Given the description of an element on the screen output the (x, y) to click on. 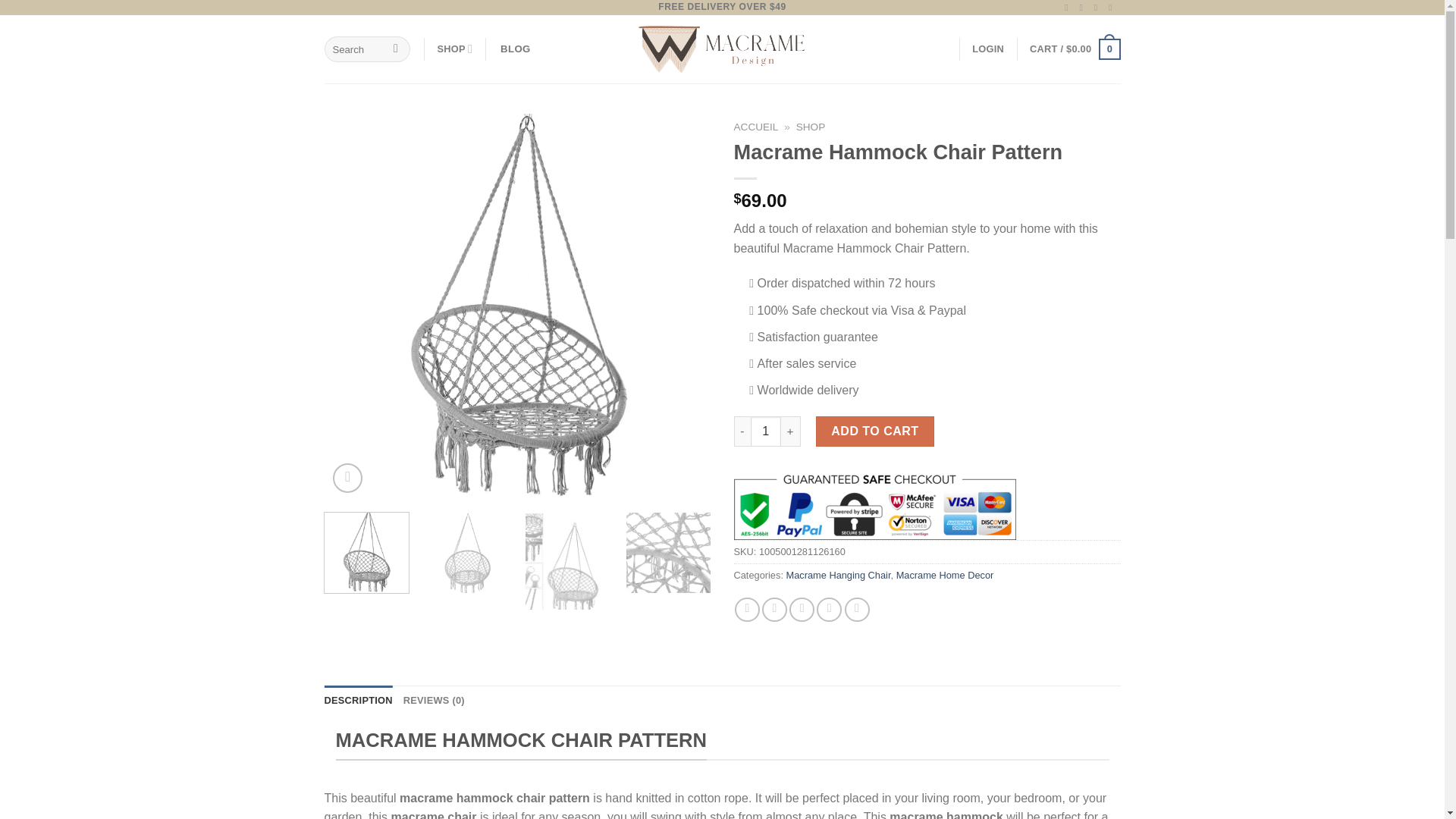
- (742, 431)
1 (765, 431)
LOGIN (988, 49)
Search (396, 49)
BLOG (514, 49)
Macrame-Design.com - Macrame-Design.com (721, 49)
Qty (765, 431)
SHOP (453, 49)
Cart (1074, 48)
